Given the description of an element on the screen output the (x, y) to click on. 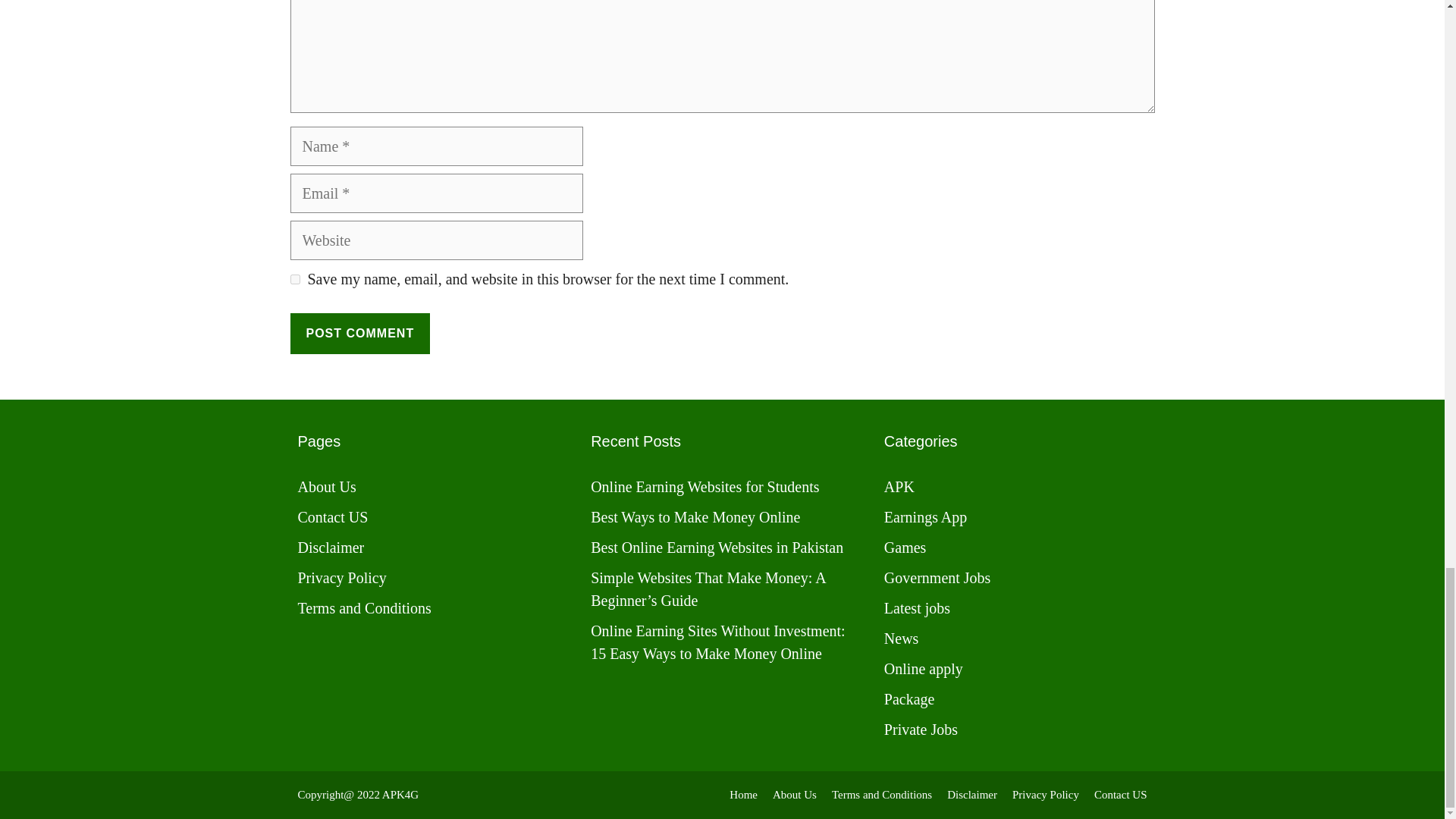
Best Ways to Make Money Online (695, 516)
Privacy Policy (341, 577)
Disclaimer (330, 547)
yes (294, 279)
APK (898, 486)
Post Comment (359, 332)
Online Earning Websites for Students (704, 486)
About Us (326, 486)
Contact US (332, 516)
Post Comment (359, 332)
Best Online Earning Websites in Pakistan (717, 547)
Games (904, 547)
Earnings App (924, 516)
Terms and Conditions (363, 607)
